Given the description of an element on the screen output the (x, y) to click on. 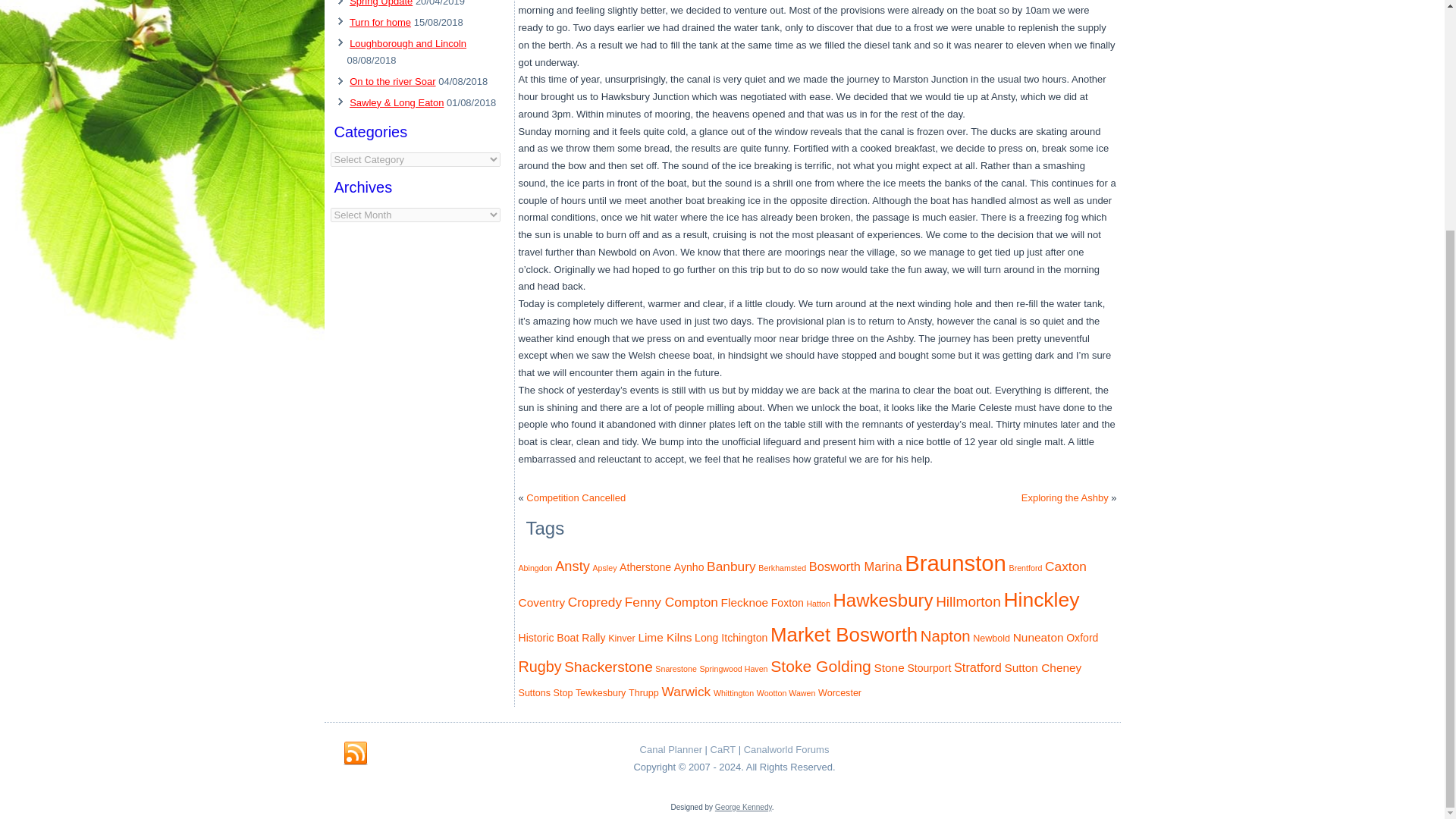
Hillmorton (968, 601)
Atherstone (645, 567)
Exploring the Ashby (1065, 497)
Fenny Compton (670, 601)
Cropredy (594, 601)
Loughborough and Lincoln (407, 43)
Abingdon (535, 567)
Spring Update (380, 3)
Brentford (1025, 567)
Lime Kilns (664, 636)
